Given the description of an element on the screen output the (x, y) to click on. 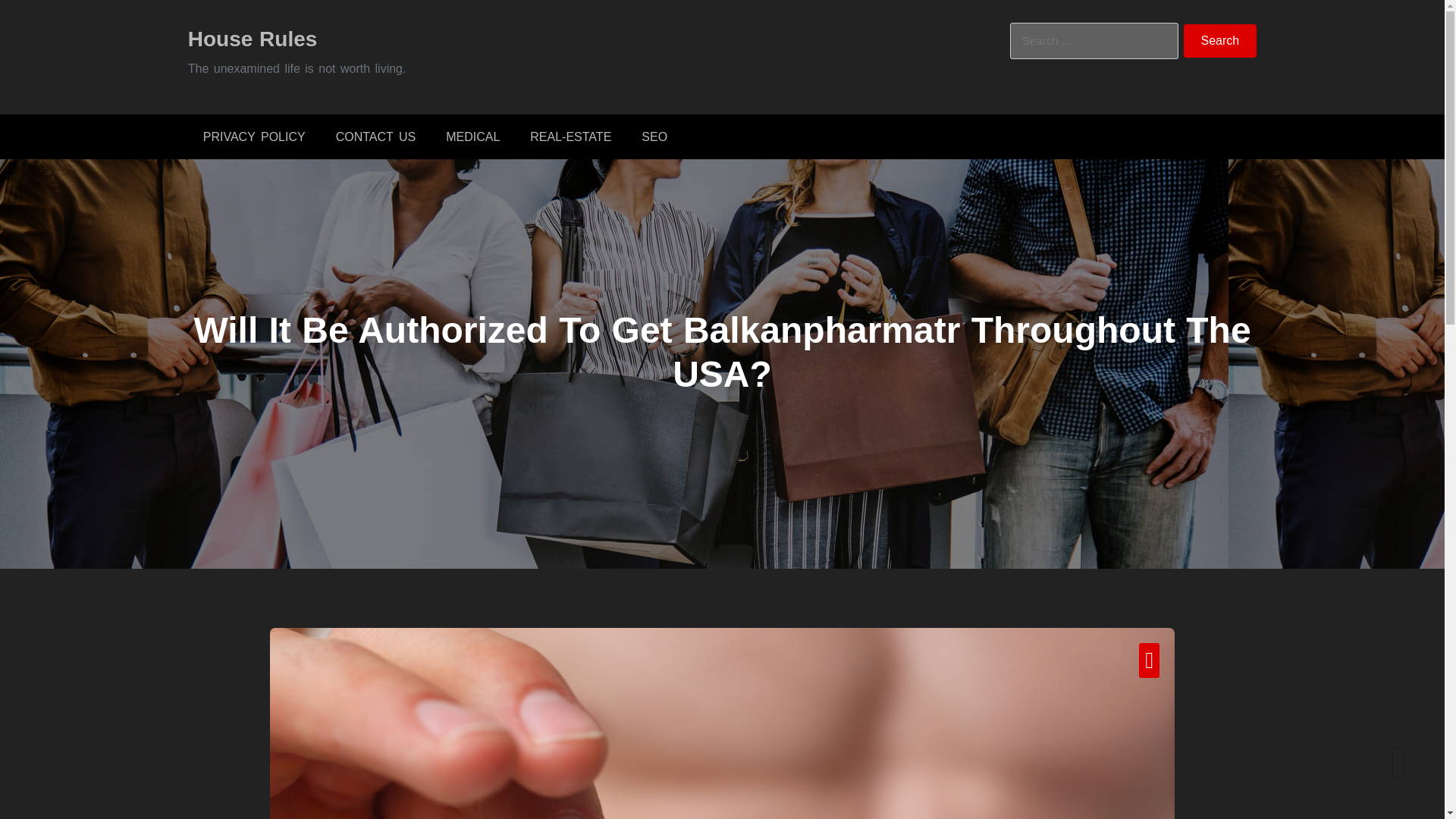
REAL-ESTATE (570, 136)
Search (1220, 40)
Search (1220, 40)
MEDICAL (472, 136)
CONTACT US (375, 136)
Search (1220, 40)
House Rules (252, 38)
PRIVACY POLICY (253, 136)
SEO (654, 136)
